Given the description of an element on the screen output the (x, y) to click on. 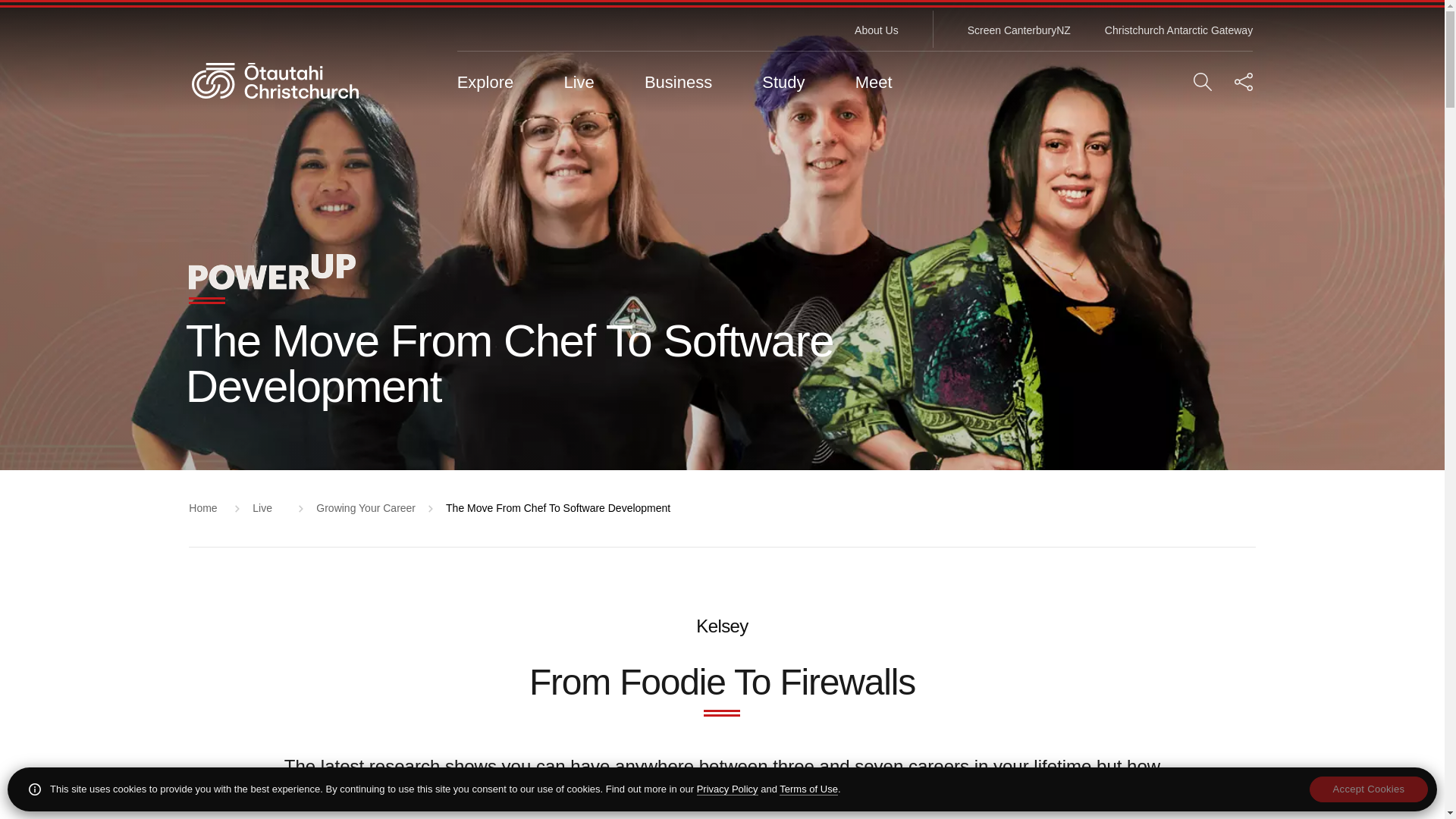
About Us (876, 30)
Screen CanterburyNZ (1019, 30)
Terms of Use (808, 788)
Privacy Policy (727, 788)
Christchurch Antarctic Gateway (1178, 30)
Home (283, 80)
